Given the description of an element on the screen output the (x, y) to click on. 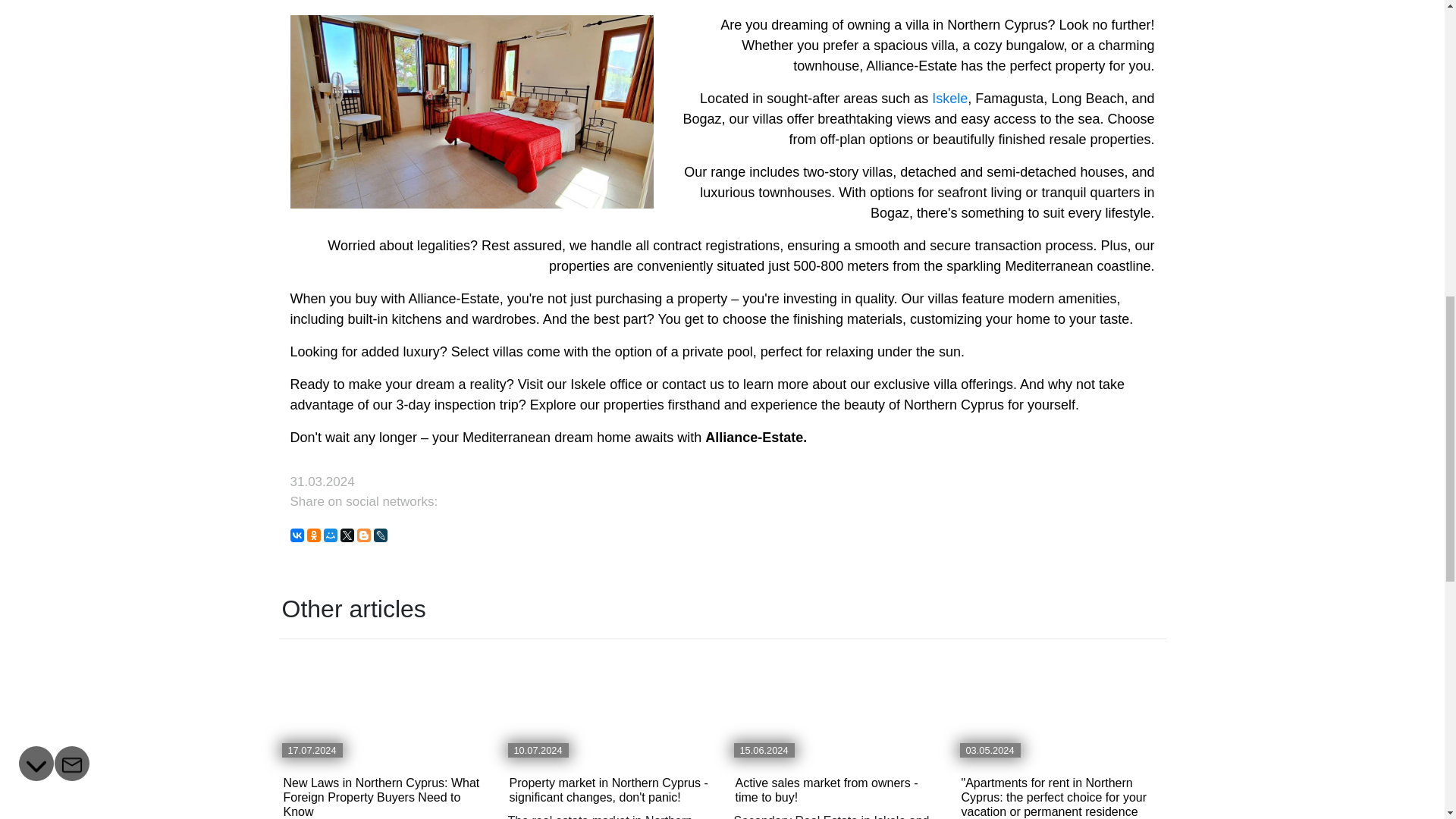
Villas in Iskele - AllianceNC (949, 98)
Twitter (346, 535)
LiveJournal (379, 535)
Blogger (362, 535)
